Given the description of an element on the screen output the (x, y) to click on. 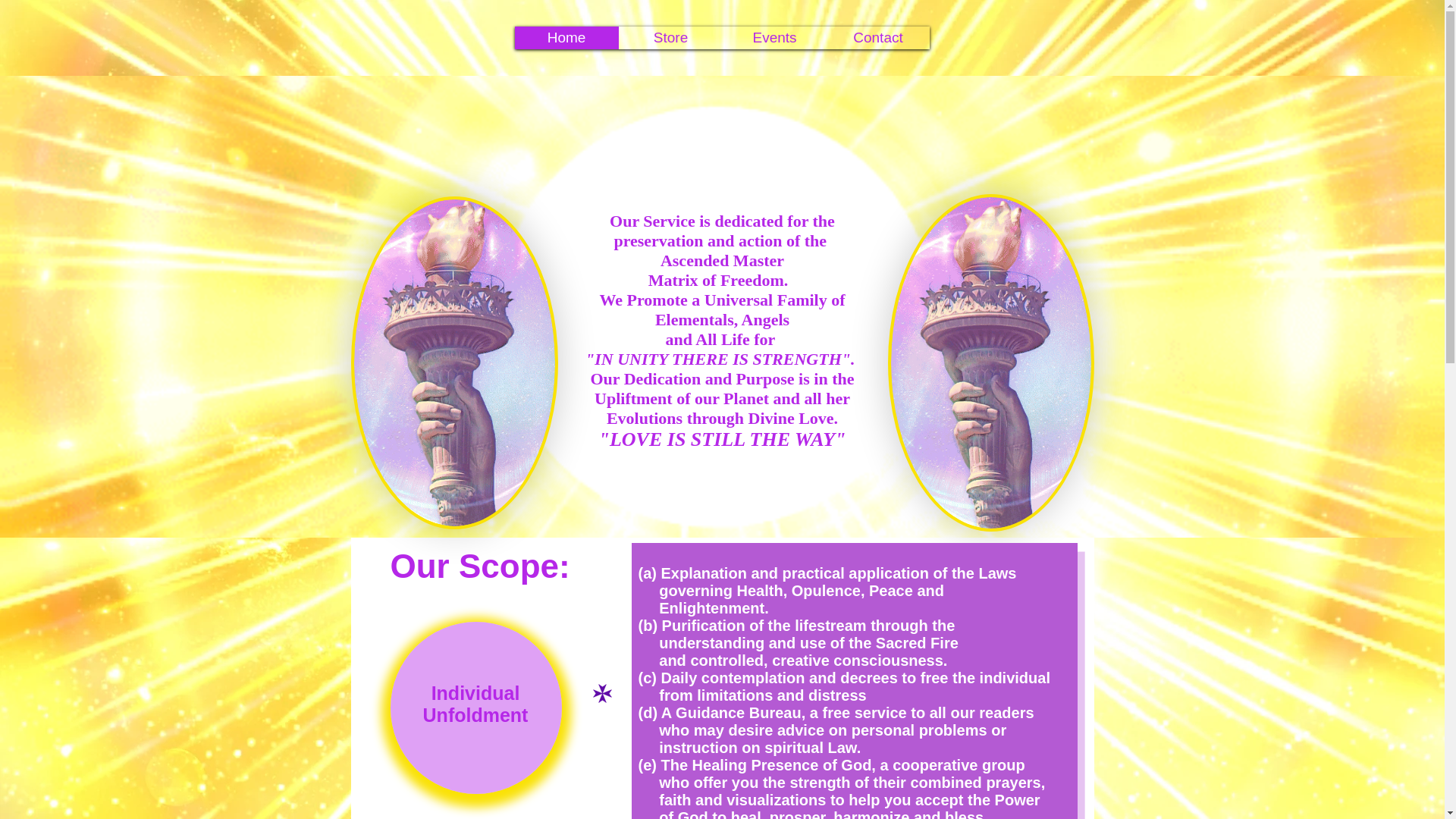
Home (565, 37)
Store (670, 37)
Contact (878, 37)
